Given the description of an element on the screen output the (x, y) to click on. 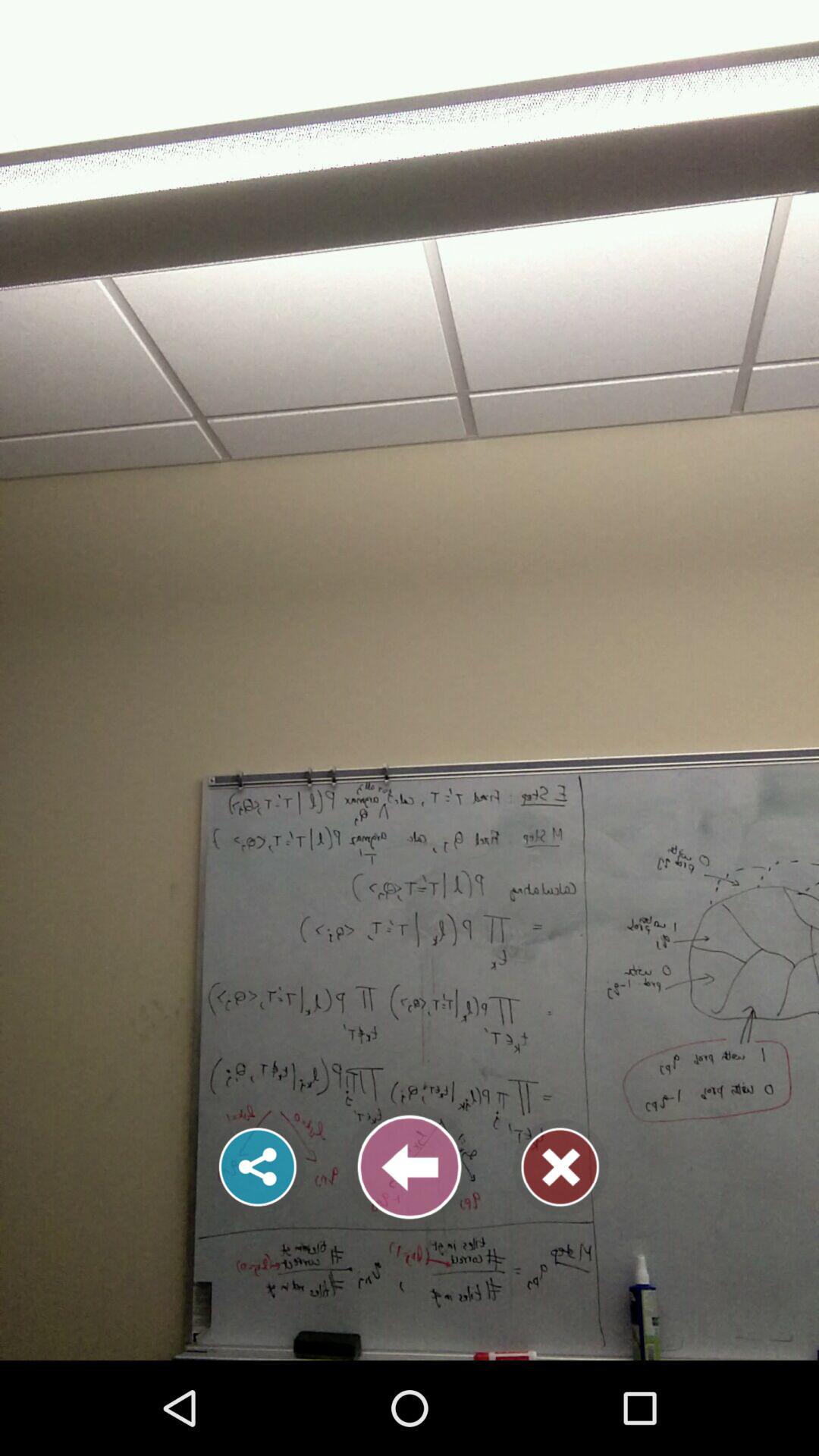
share option (257, 1166)
